Given the description of an element on the screen output the (x, y) to click on. 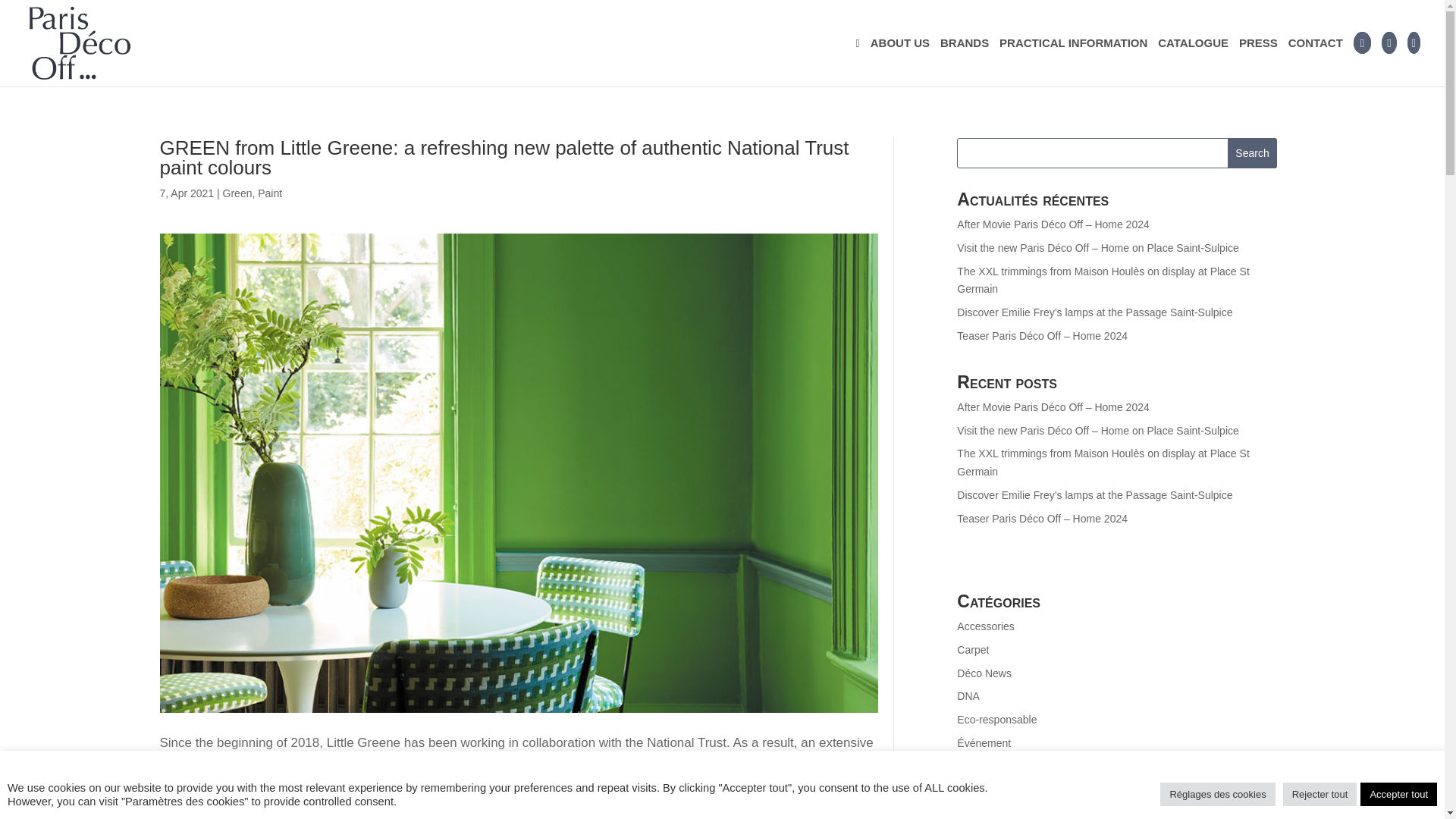
CONTACT (1315, 61)
Carpet (972, 649)
ABOUT US (900, 61)
Paint (269, 193)
Search (1252, 153)
Green (236, 193)
Accessories (984, 625)
BRANDS (964, 61)
Search (1252, 153)
CATALOGUE (1192, 61)
PRACTICAL INFORMATION (1072, 61)
